Given the description of an element on the screen output the (x, y) to click on. 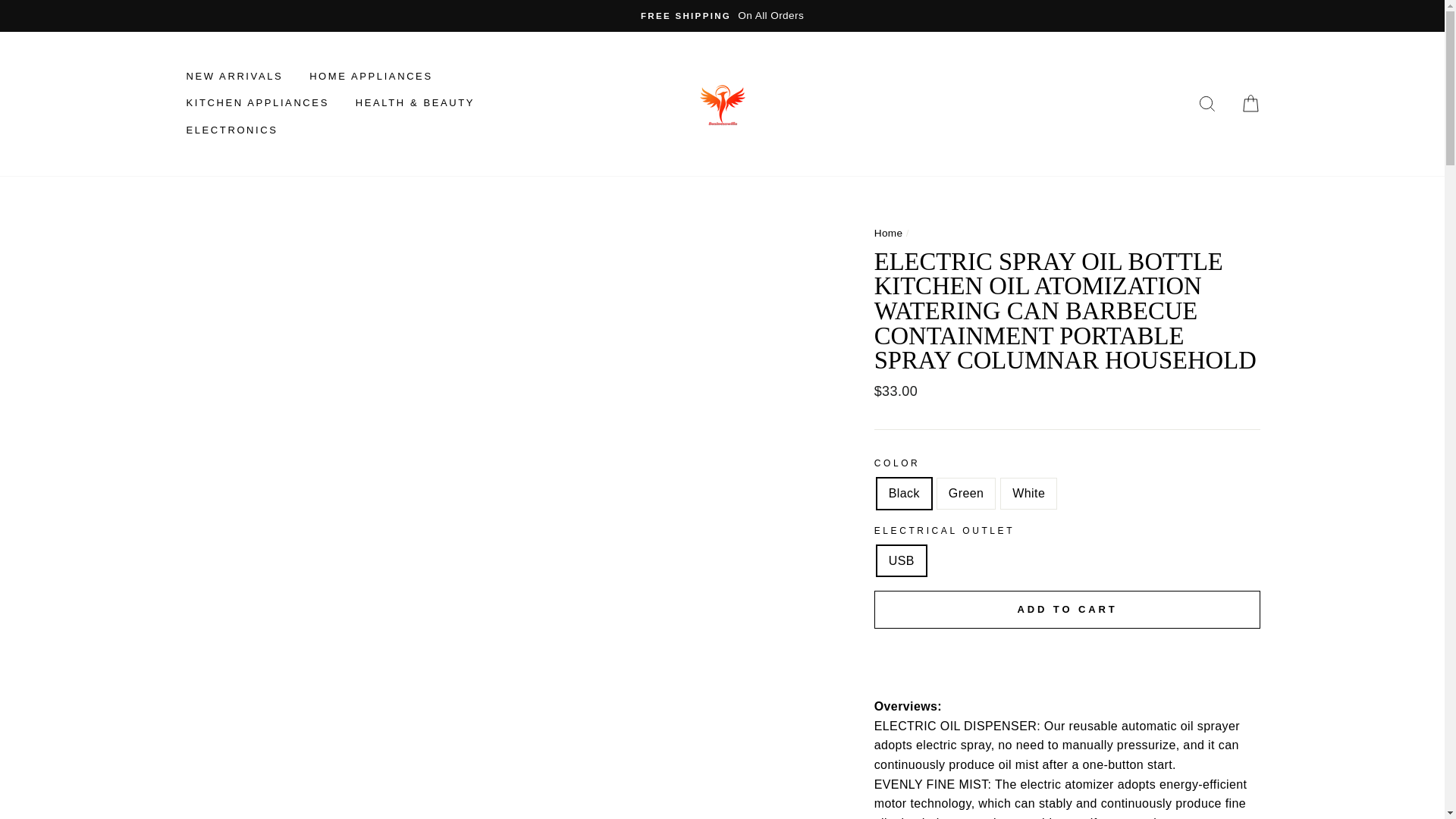
NEW ARRIVALS (234, 76)
KITCHEN APPLIANCES (256, 103)
Back to the frontpage (888, 233)
CART (1249, 102)
HOME APPLIANCES (371, 76)
ELECTRONICS (231, 130)
SEARCH (1207, 102)
ADD TO CART (1067, 609)
Home (888, 233)
